Given the description of an element on the screen output the (x, y) to click on. 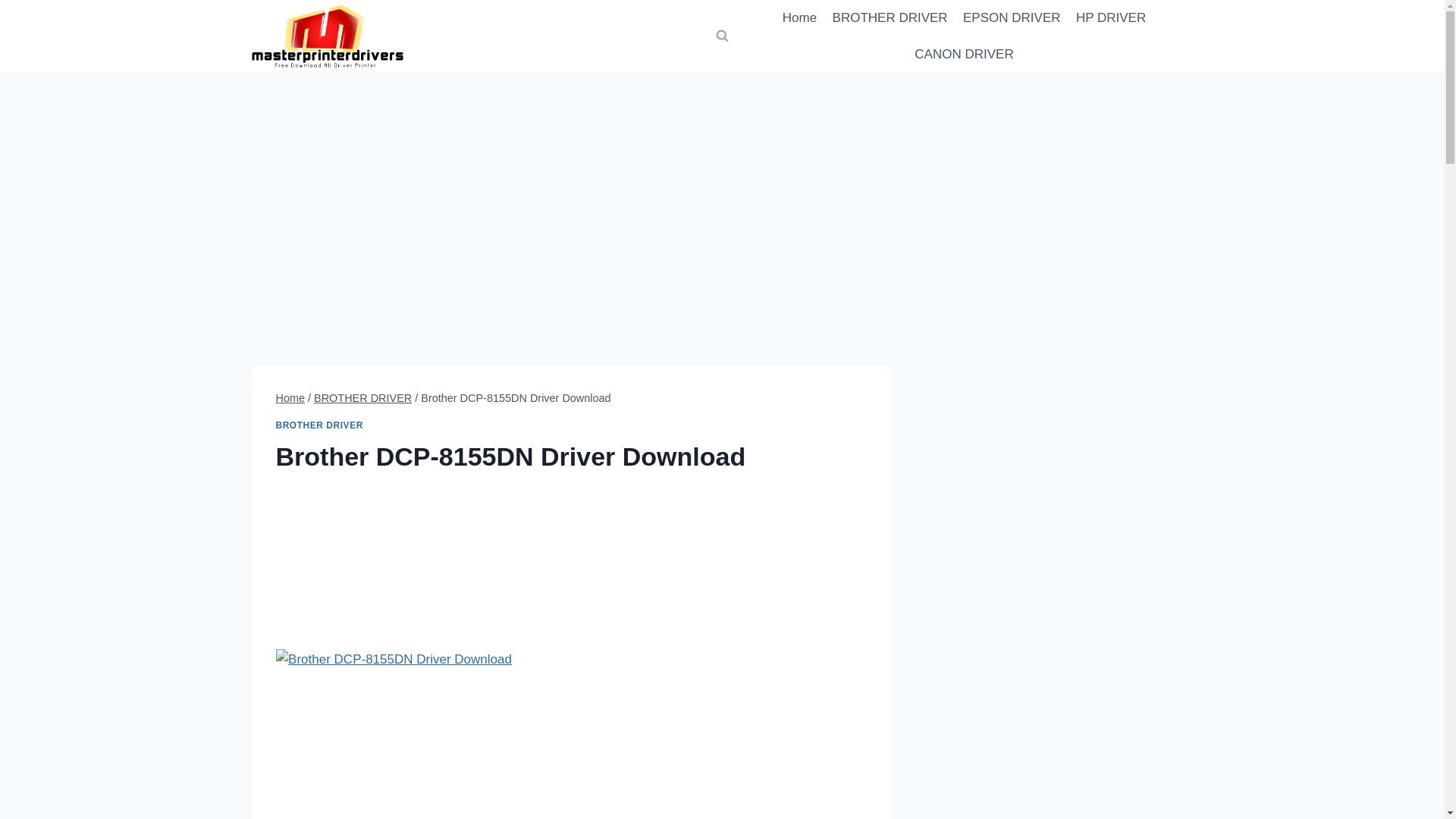
HP DRIVER (1111, 18)
Home (290, 398)
Advertisement (571, 574)
Brother DCP-8155DN Driver Download (394, 734)
BROTHER DRIVER (889, 18)
EPSON DRIVER (1011, 18)
Home (799, 18)
